Given the description of an element on the screen output the (x, y) to click on. 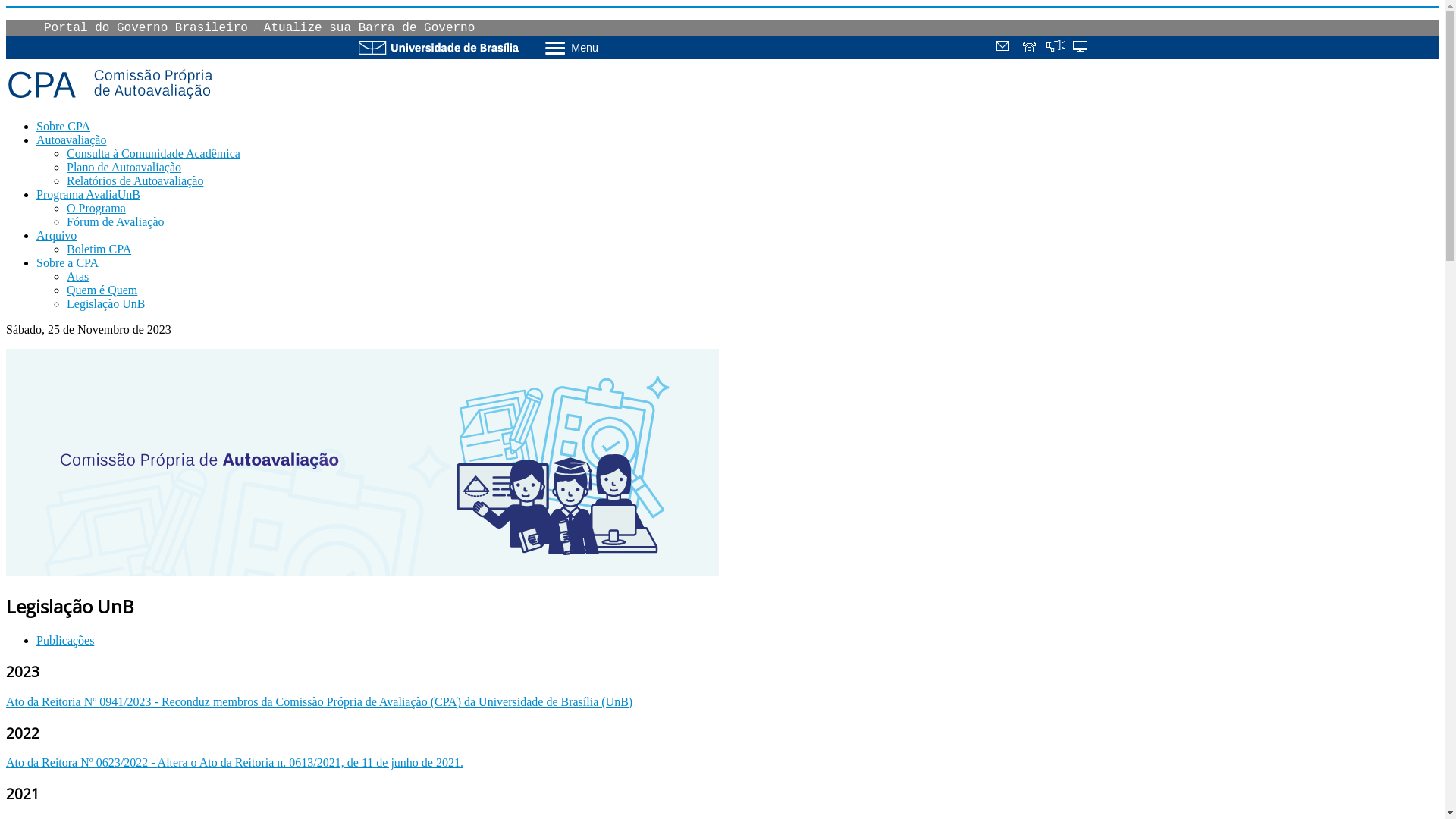
Fala.BR Element type: hover (1055, 47)
Atas Element type: text (77, 275)
Menu Element type: text (610, 46)
  Element type: text (1004, 47)
Boletim CPA Element type: text (98, 248)
Webmail Element type: hover (1004, 47)
  Element type: text (1055, 47)
Arquivo Element type: text (56, 235)
Sobre a CPA Element type: text (67, 262)
Ir para o Portal da UnB Element type: hover (438, 46)
Sistemas Element type: hover (1081, 47)
  Element type: text (1030, 47)
Telefones da UnB Element type: hover (1030, 47)
Atualize sua Barra de Governo Element type: text (368, 27)
Programa AvaliaUnB Element type: text (88, 194)
O Programa Element type: text (95, 207)
Portal do Governo Brasileiro Element type: text (145, 27)
Sobre CPA Element type: text (63, 125)
  Element type: text (1081, 47)
